Given the description of an element on the screen output the (x, y) to click on. 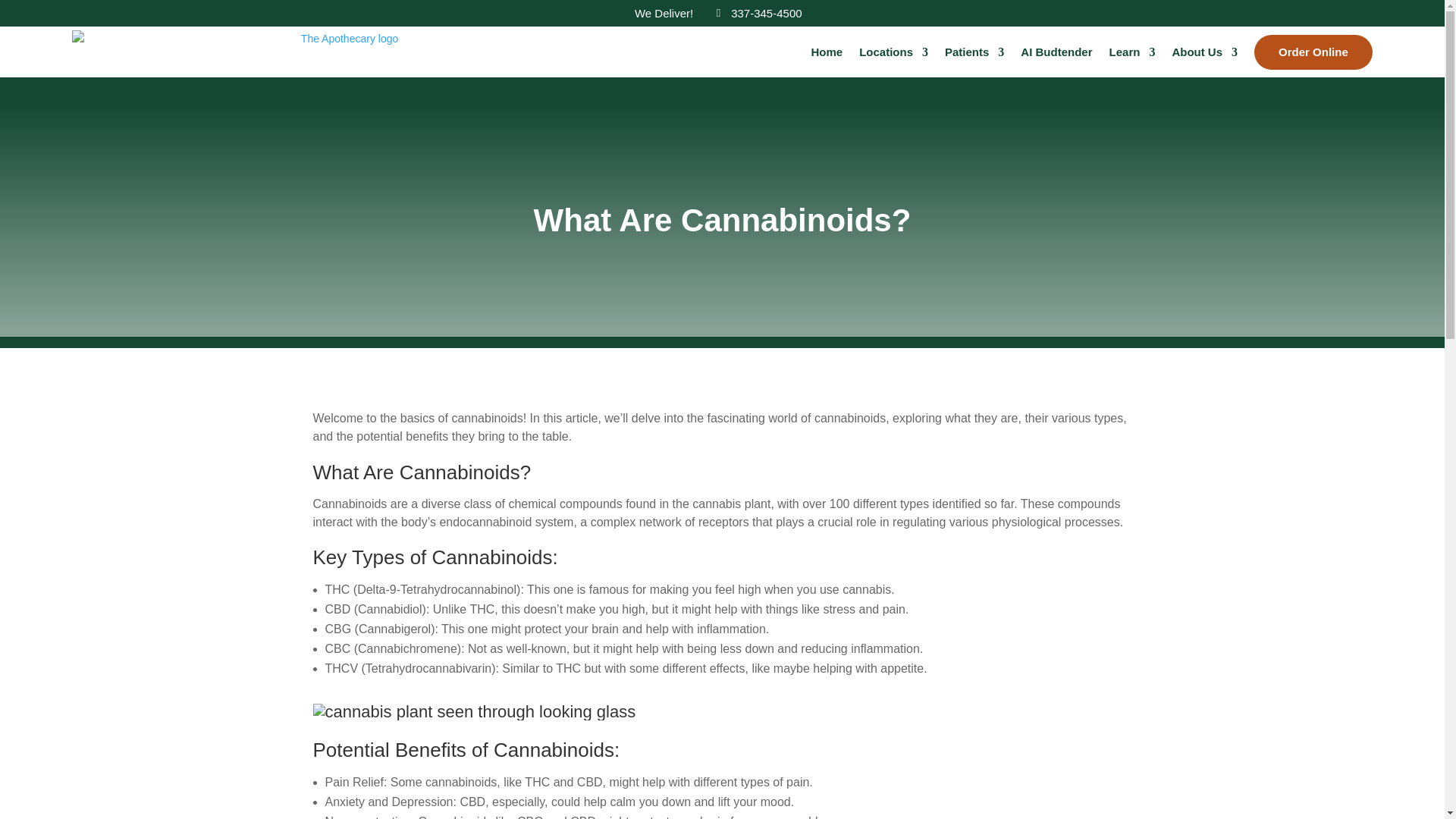
We Deliver! (663, 15)
Patients (974, 51)
337-345-4500 (758, 15)
Home (826, 51)
AI Budtender (1056, 51)
Learn (1132, 51)
Order Online (1313, 52)
Locations (893, 51)
About Us (1204, 51)
